Given the description of an element on the screen output the (x, y) to click on. 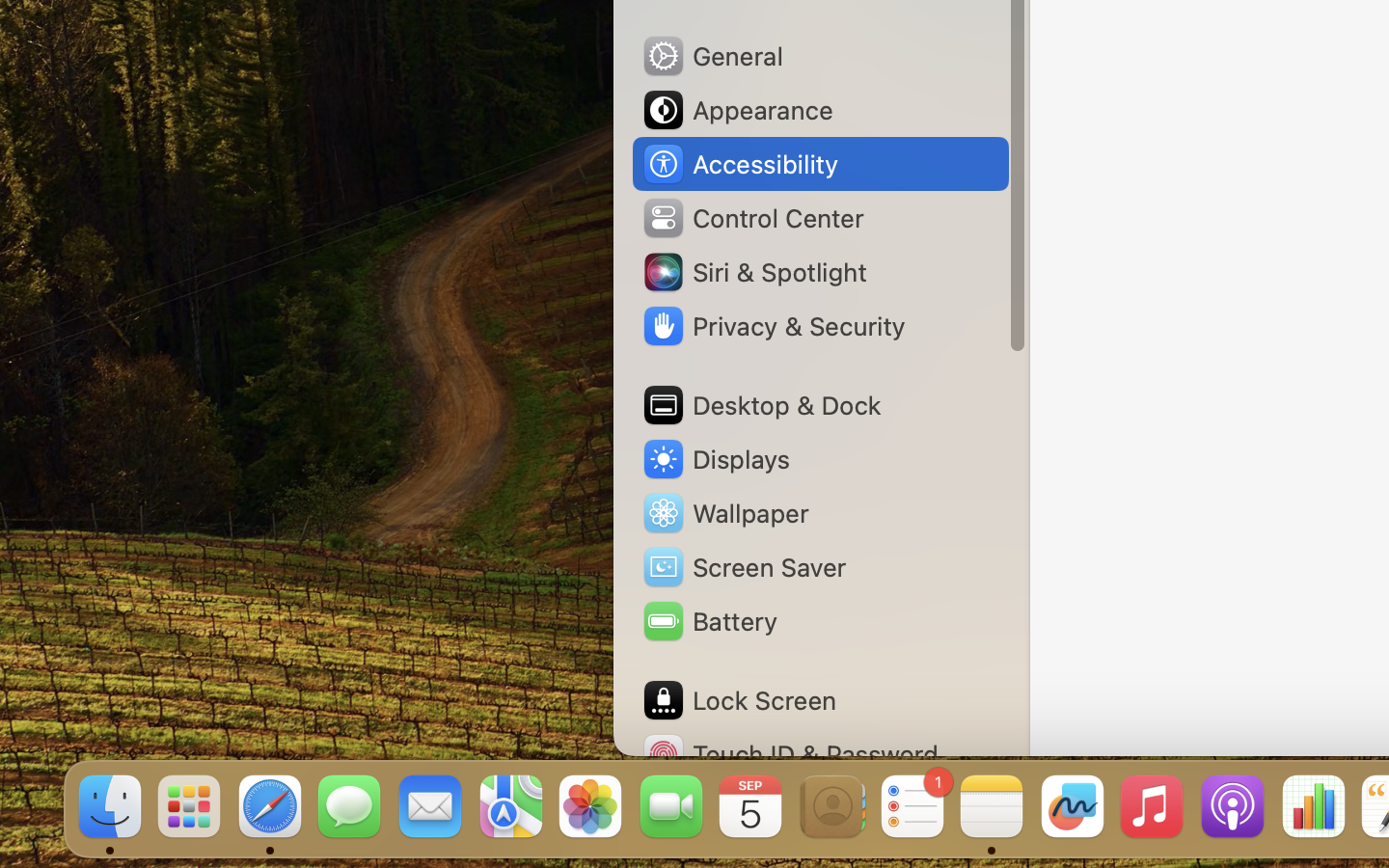
Appearance Element type: AXStaticText (736, 109)
Wallpaper Element type: AXStaticText (724, 512)
Displays Element type: AXStaticText (715, 458)
Lock Screen Element type: AXStaticText (738, 700)
Desktop & Dock Element type: AXStaticText (760, 404)
